Given the description of an element on the screen output the (x, y) to click on. 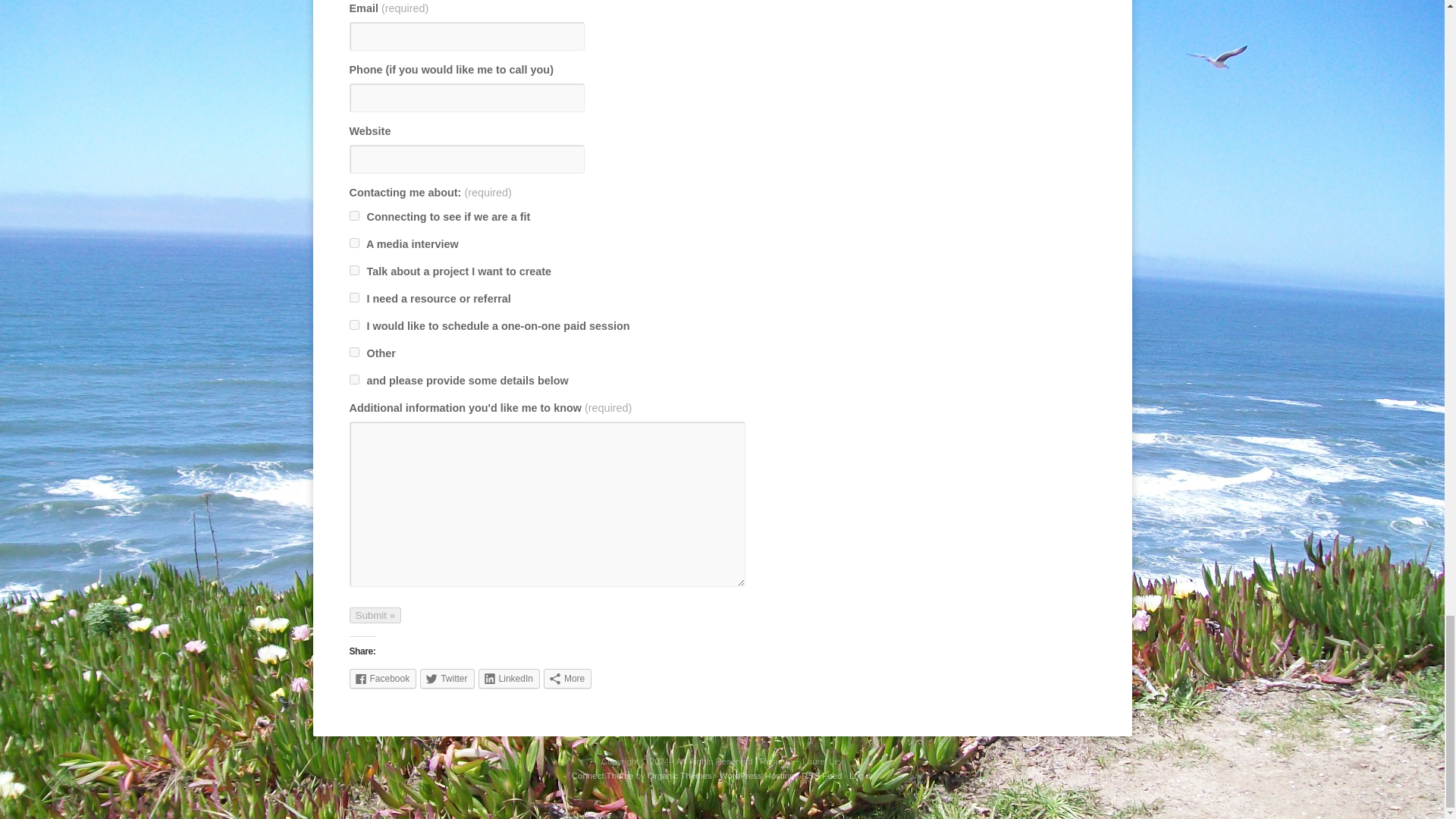
Other (353, 352)
Connecting to see if we are a fit (353, 215)
Click to share on Facebook (382, 678)
I would like to schedule a one-on-one paid session (353, 325)
and please provide some details below (353, 379)
LinkedIn (509, 678)
I need a resource or referral (353, 297)
WordPress Hosting (756, 775)
Talk about a project I want to create (353, 270)
More (567, 678)
